Given the description of an element on the screen output the (x, y) to click on. 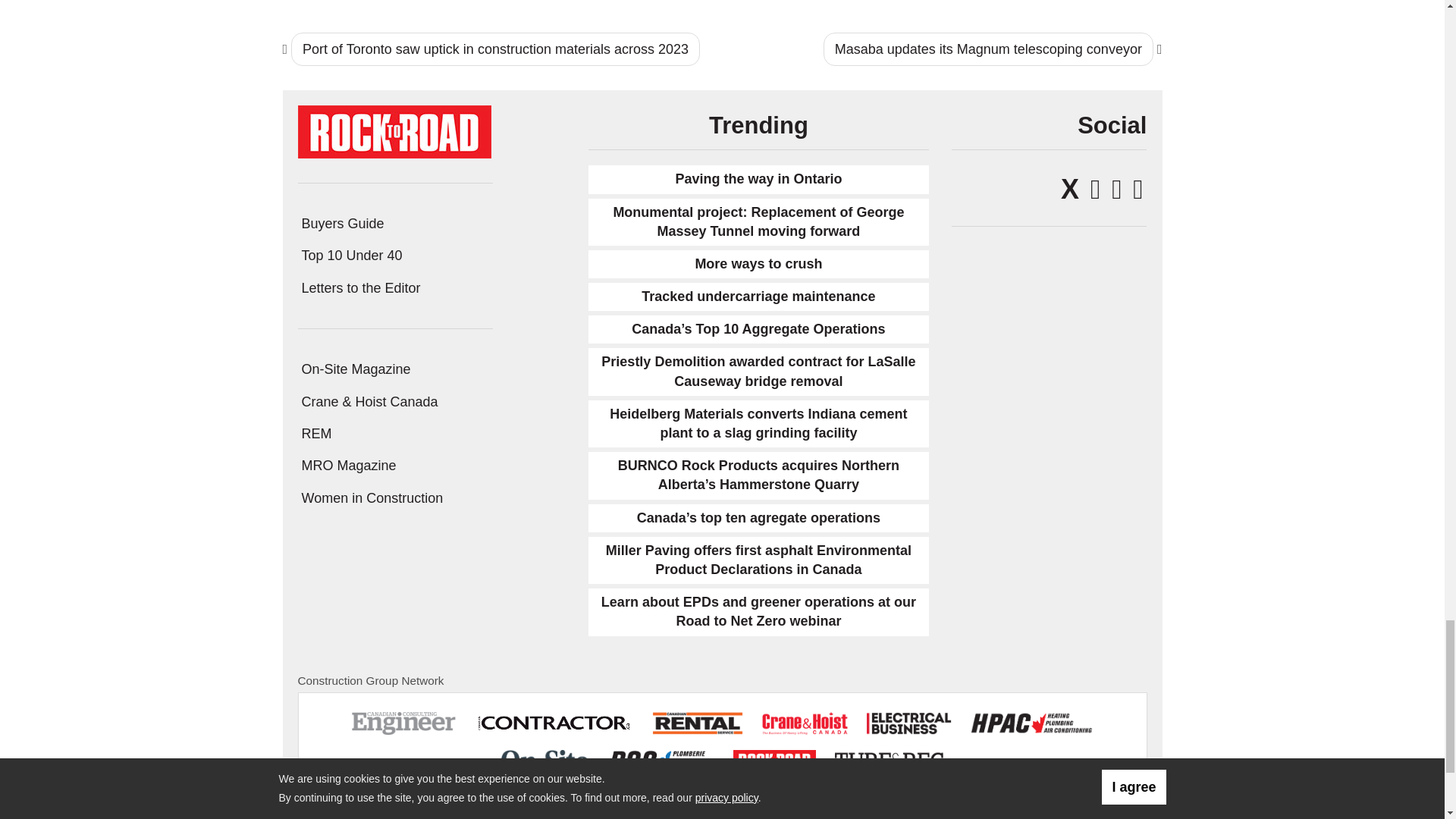
Rock to Road (393, 130)
